Given the description of an element on the screen output the (x, y) to click on. 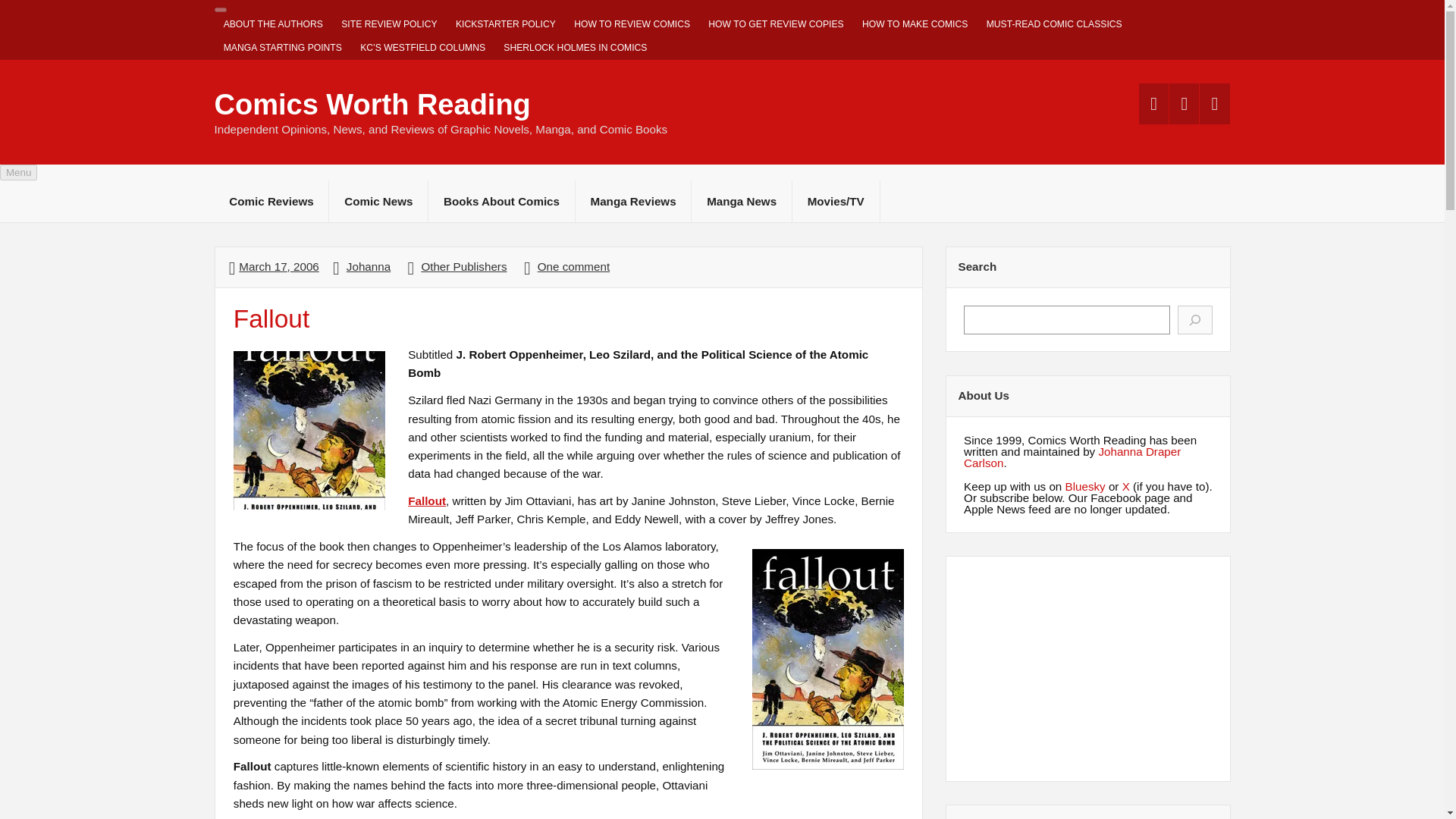
SHERLOCK HOLMES IN COMICS (575, 48)
HOW TO REVIEW COMICS (631, 24)
ABOUT THE AUTHORS (272, 24)
MANGA STARTING POINTS (282, 48)
Fallout (426, 500)
March 17, 2006 (278, 266)
Bluesky (1085, 485)
View all posts by Johanna (368, 266)
Other Publishers (463, 266)
Comics Worth Reading (371, 104)
